Given the description of an element on the screen output the (x, y) to click on. 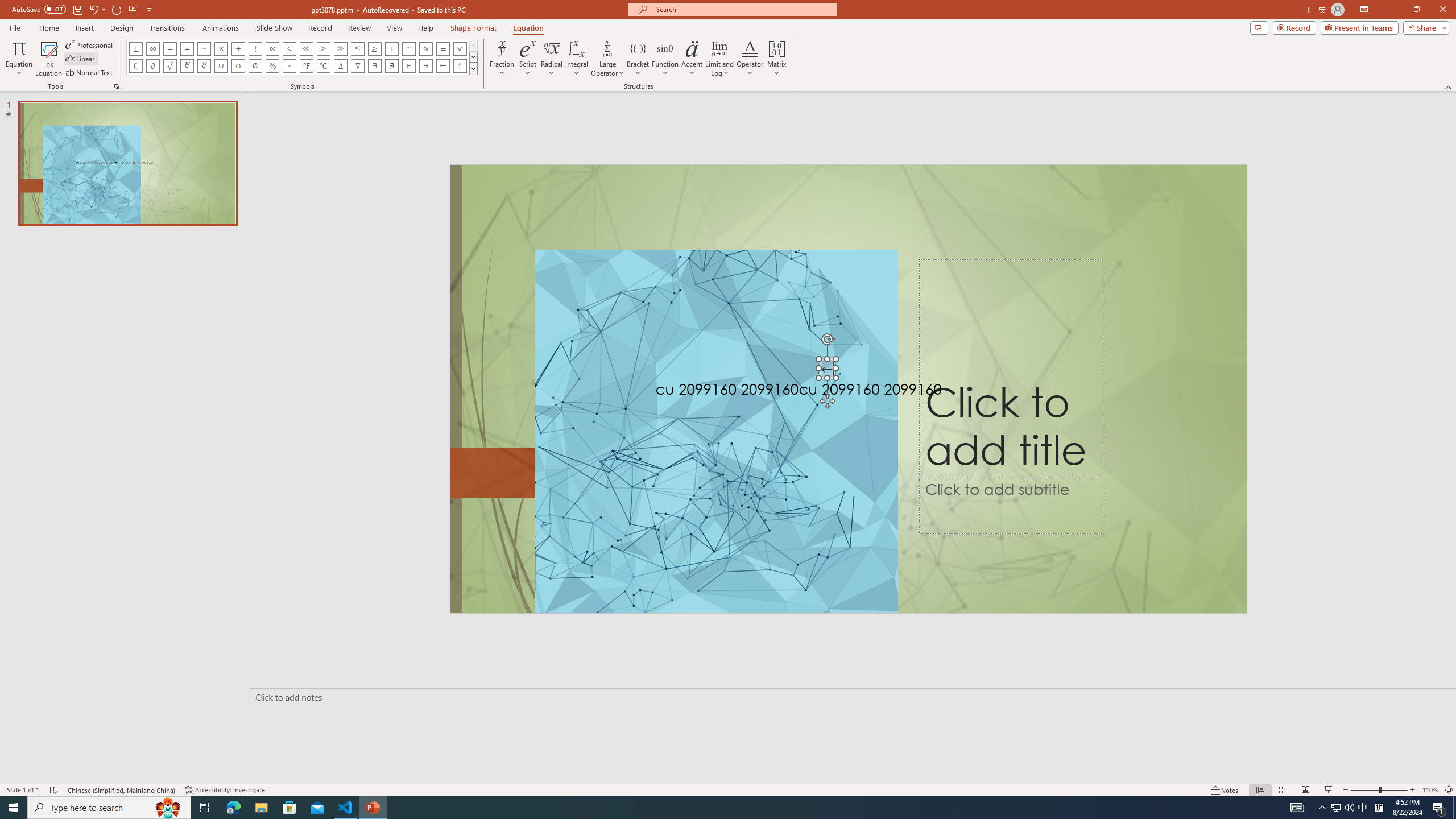
Equation Symbol There Exists (374, 65)
Equation Symbol Almost Equal To (Asymptotic To) (425, 48)
Equation Symbol Plus Minus (136, 48)
Equation Symbol Nabla (357, 65)
Equation Symbol For All (459, 48)
Limit and Log (719, 58)
Equation Symbol Intersection (238, 65)
Normal Text (90, 72)
AutomationID: EquationSymbolsInsertGallery (302, 57)
Bracket (638, 58)
